Given the description of an element on the screen output the (x, y) to click on. 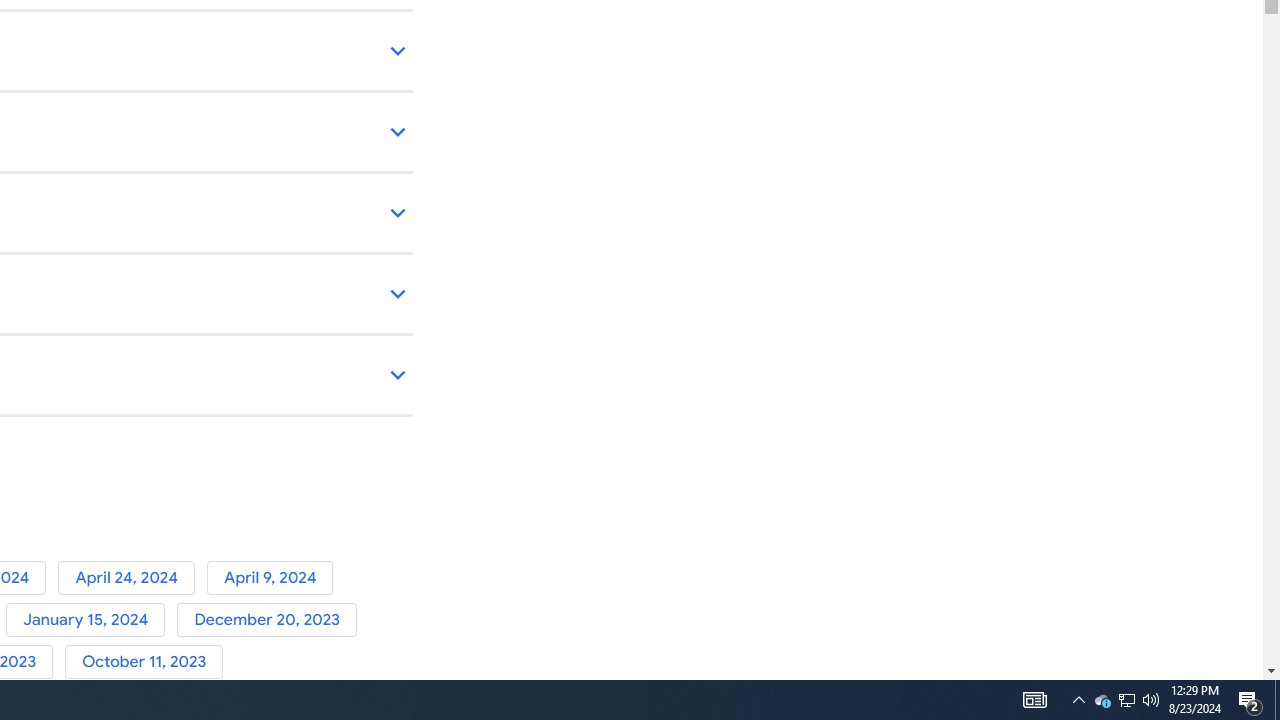
October 11, 2023 (147, 661)
April 24, 2024 (132, 577)
January 15, 2024 (91, 620)
April 9, 2024 (273, 577)
December 20, 2023 (270, 620)
